Given the description of an element on the screen output the (x, y) to click on. 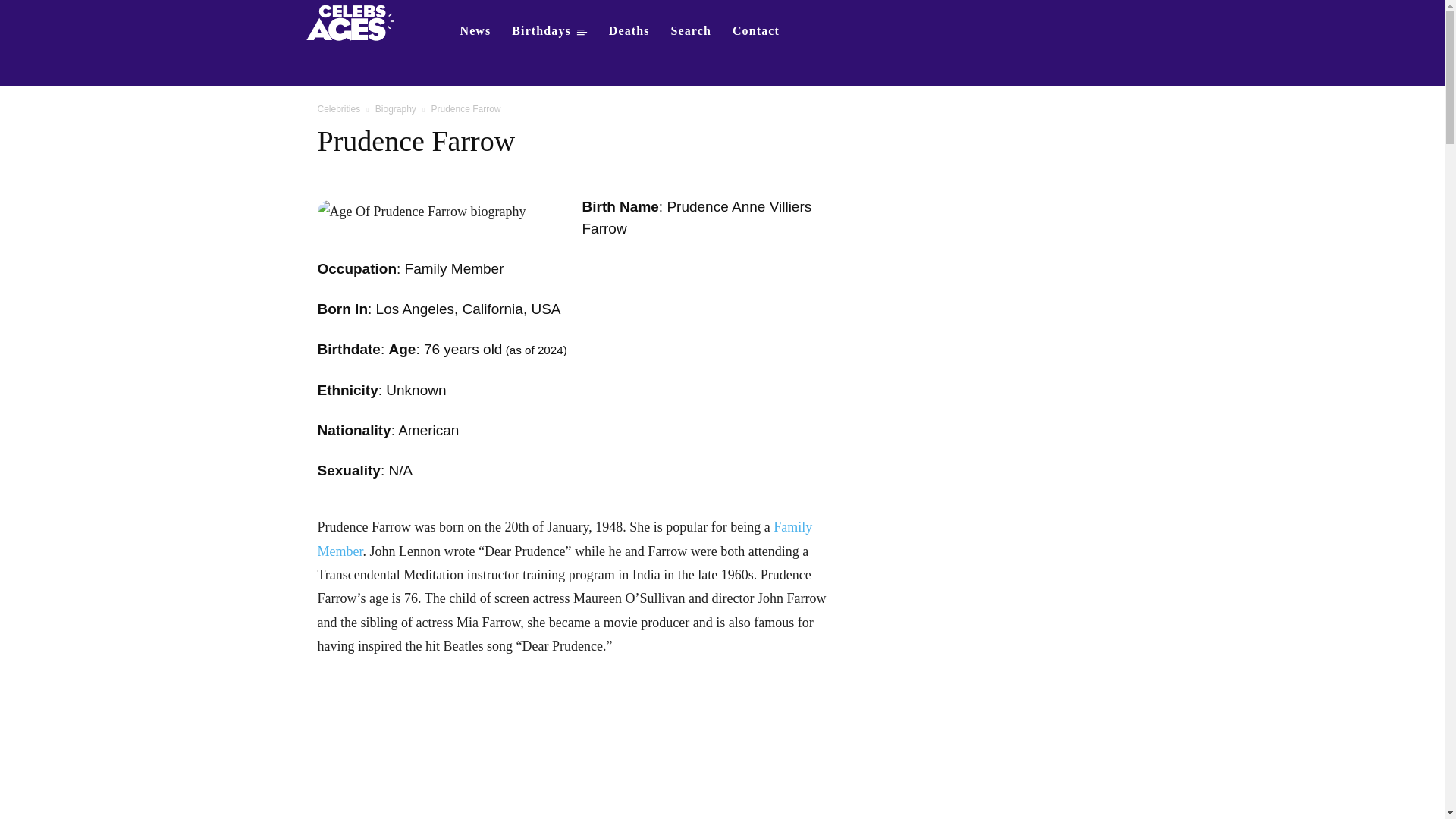
Birthdays (548, 31)
Deaths (629, 31)
Who is dating who (354, 21)
Contact (756, 31)
Celebs News (474, 31)
News (474, 31)
Biography (395, 109)
Search (691, 31)
Family Member (564, 538)
Celebrities (338, 109)
